Given the description of an element on the screen output the (x, y) to click on. 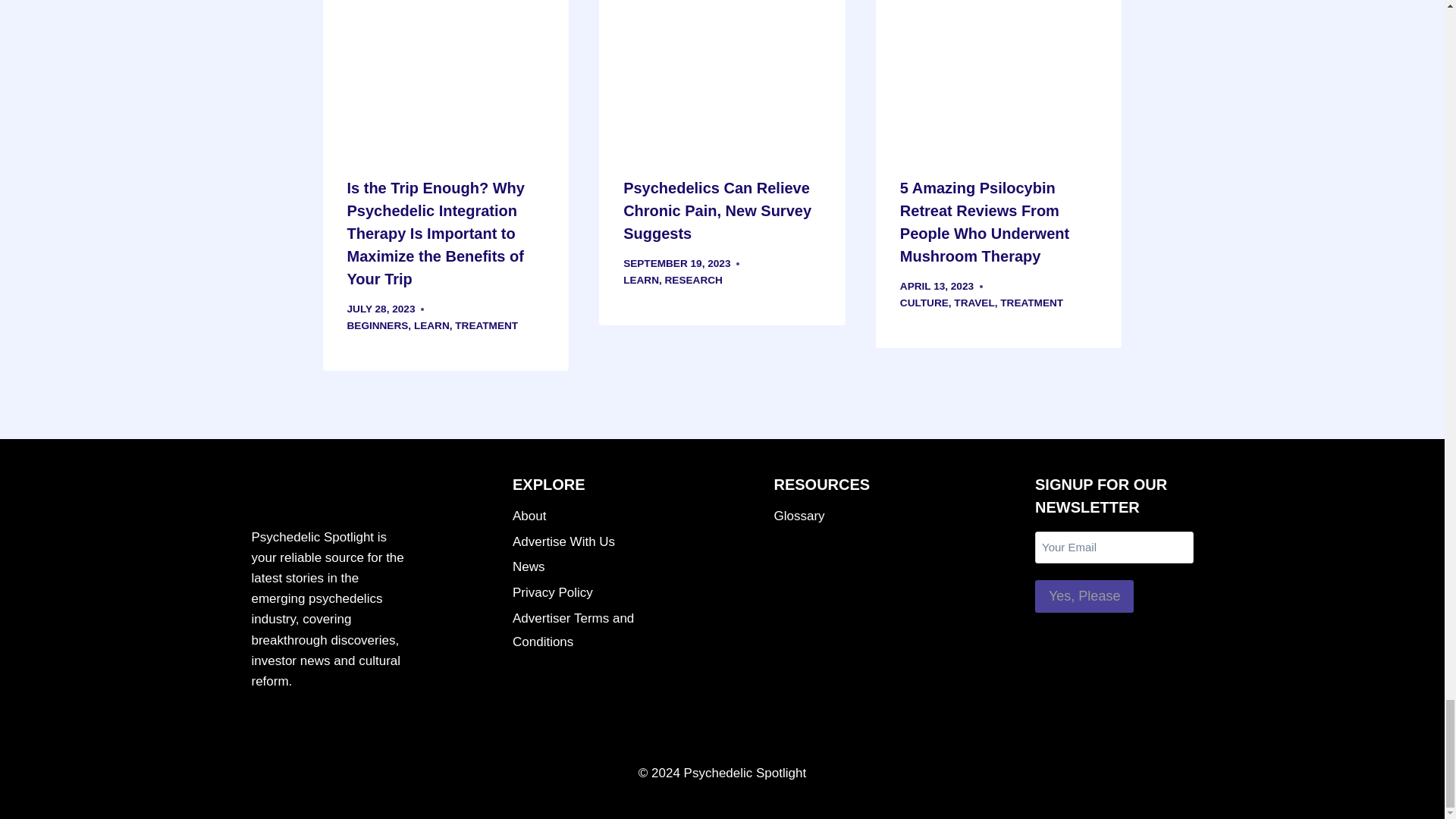
Yes, Please (1084, 595)
